Given the description of an element on the screen output the (x, y) to click on. 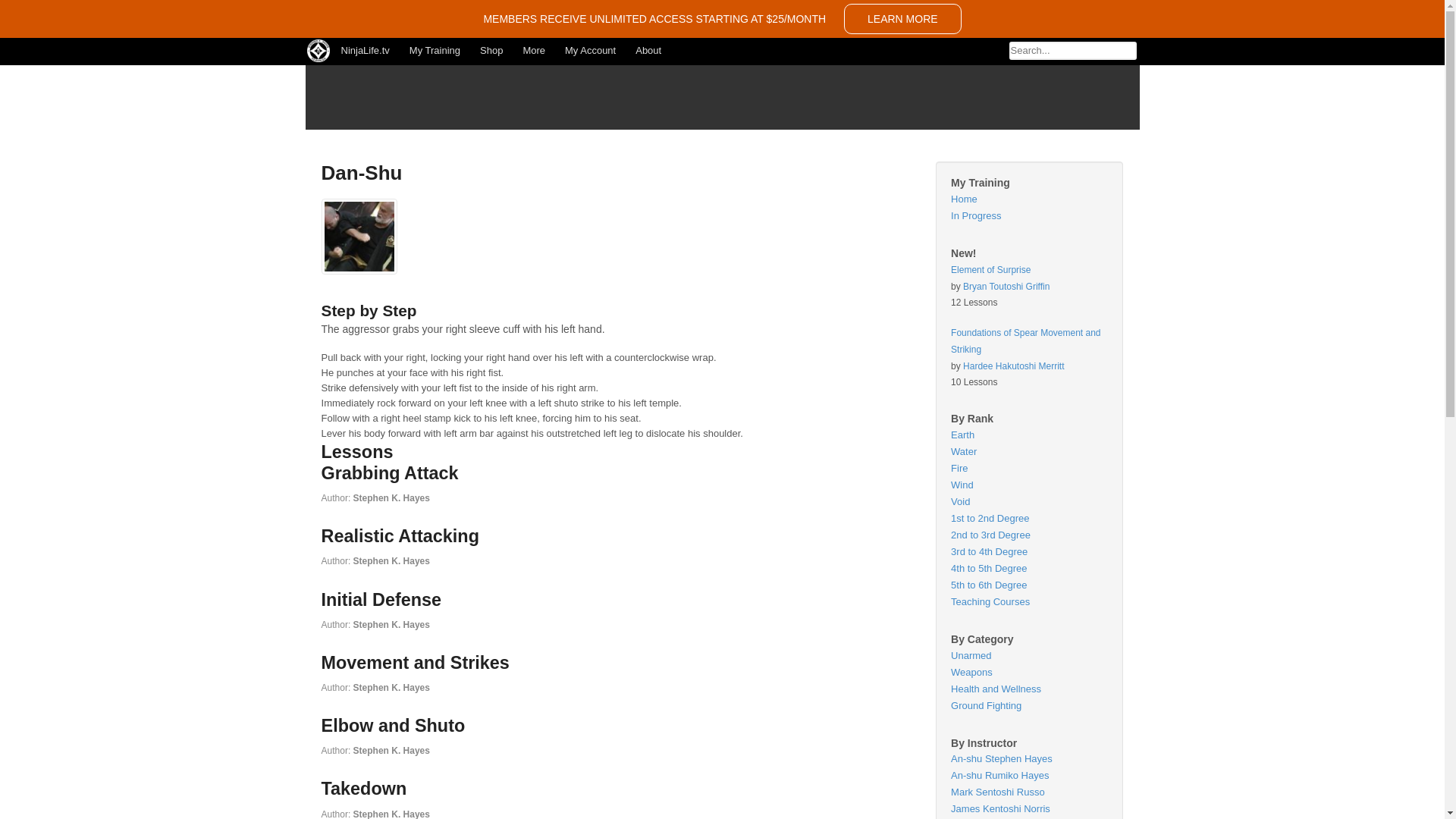
NinjaLife.tv (364, 50)
Start Movement and Strikes (415, 662)
My Training (434, 50)
Ninja Life (389, 110)
Start Grabbing Attack (389, 473)
My Account (590, 50)
Stephen K. Hayes (391, 687)
Stephen K. Hayes (391, 498)
LEARN MORE (902, 19)
Shop (491, 50)
Start Realistic Attacking (400, 536)
NinjaLife.tv (364, 50)
More (533, 50)
Start Initial Defense (381, 599)
Stephen K. Hayes (391, 624)
